Given the description of an element on the screen output the (x, y) to click on. 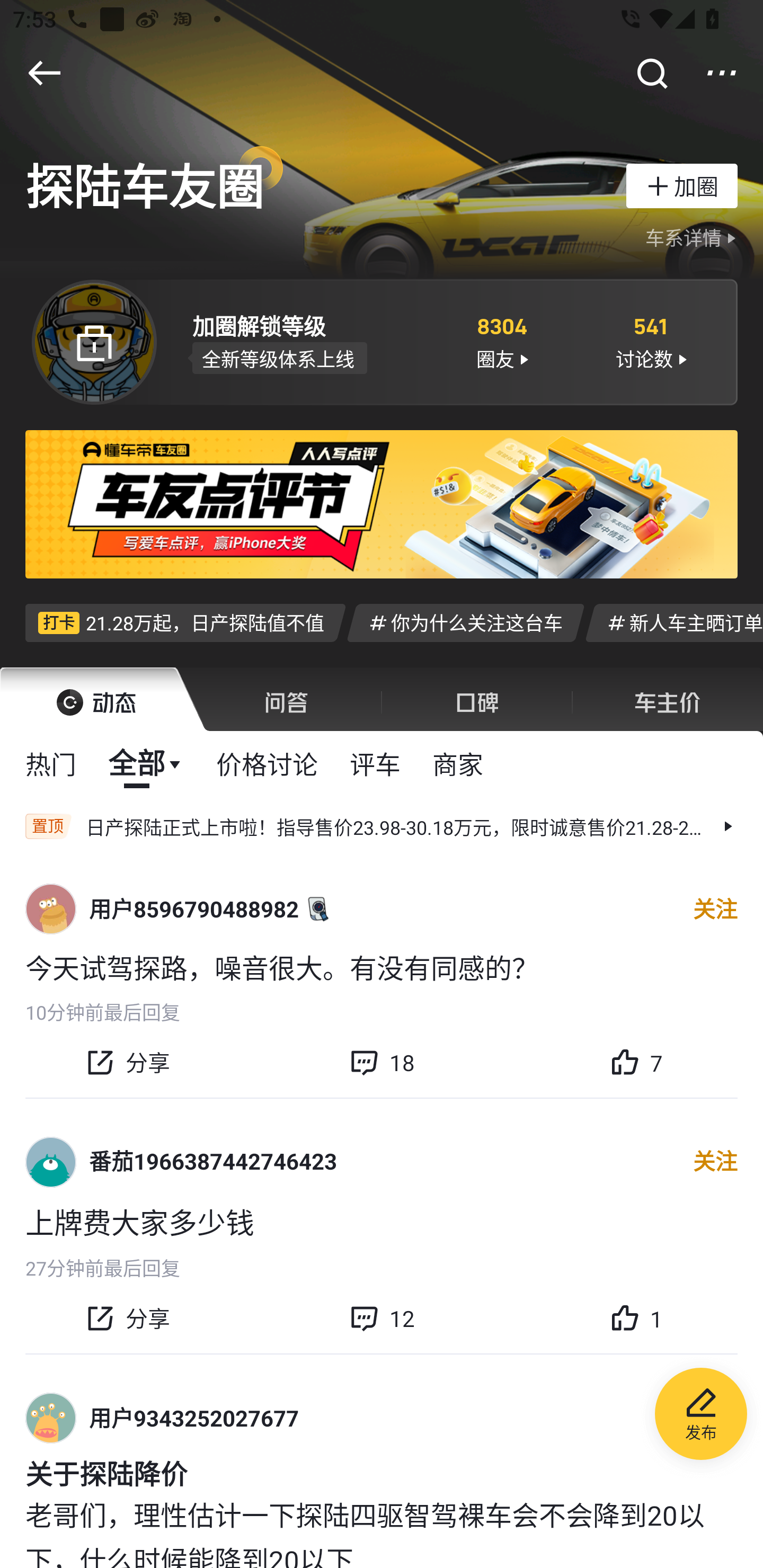
 (44, 72)
 (651, 72)
 (721, 72)
车系详情 (692, 238)
加圈解锁等级 全新等级体系上线 (307, 341)
8304 圈友 (501, 341)
541 讨论数 (650, 341)
打卡 21.28万起，日产探陆值不值 (185, 622)
 你为什么关注这台车 (465, 622)
 新人车主晒订单 (674, 622)
热门 (50, 762)
全部  (146, 762)
价格讨论 (266, 762)
评车 (374, 762)
商家 (457, 762)
关注 (714, 909)
用户8596790488982 (194, 909)
今天试驾探路，噪音很大。有没有同感的？ (381, 966)
 分享 (127, 1062)
 18 (381, 1062)
7 (635, 1062)
关注 (714, 1161)
番茄1966387442746423 (213, 1161)
上牌费大家多少钱 (381, 1221)
 分享 (127, 1318)
 12 (381, 1318)
1 (635, 1318)
 发布 (701, 1416)
用户9343252027677 (194, 1417)
老哥们，理性估计一下探陆四驱智驾裸车会不会降到20以下，什么时候能降到20以下 (381, 1531)
